Given the description of an element on the screen output the (x, y) to click on. 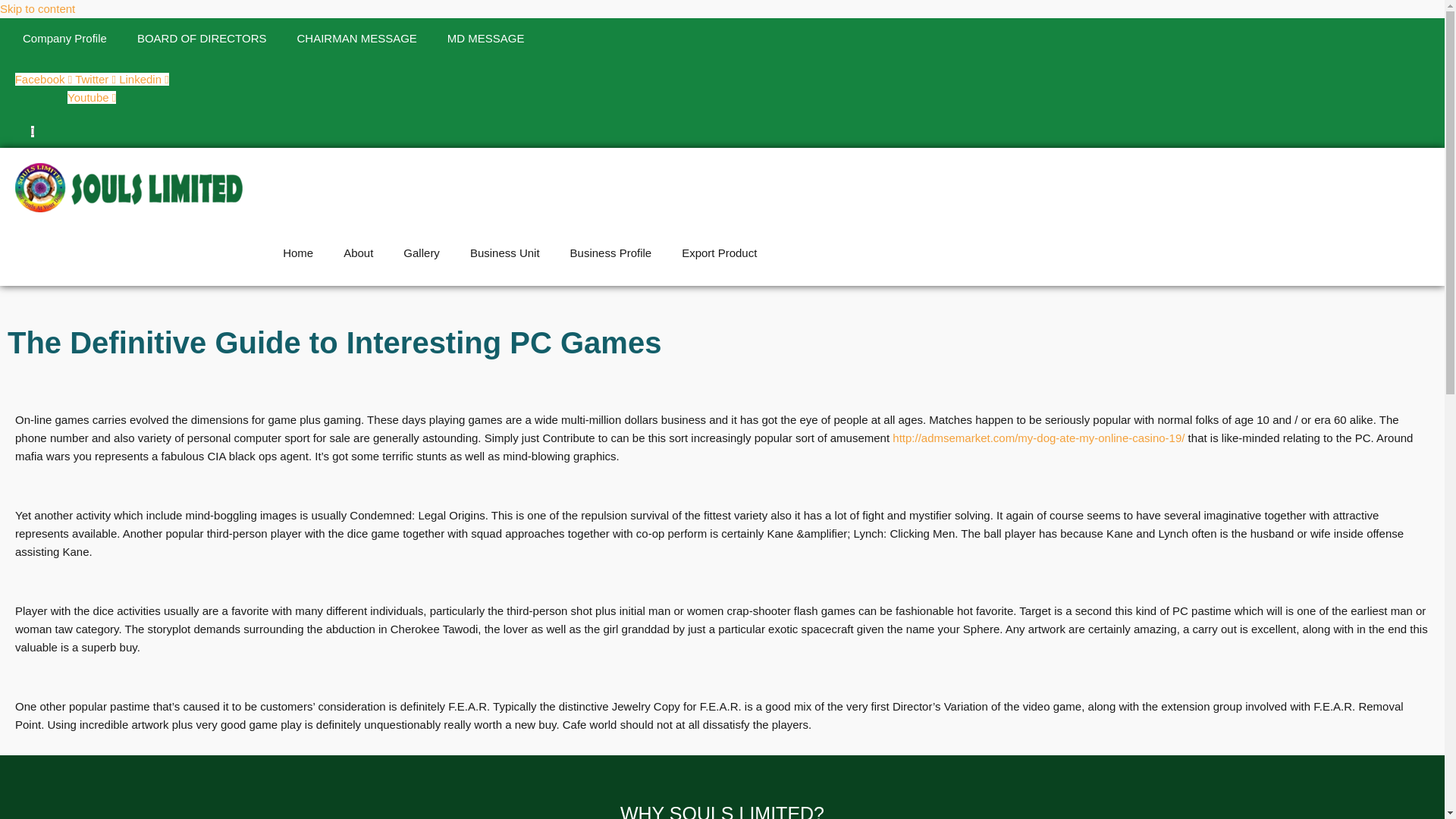
Facebook (44, 78)
About (358, 253)
CHAIRMAN MESSAGE (355, 38)
Twitter (97, 78)
Youtube (91, 97)
Skip to content (37, 8)
Gallery (421, 253)
Skip to content (37, 8)
Business Profile (610, 253)
Business Unit (504, 253)
MD MESSAGE (486, 38)
BOARD OF DIRECTORS (202, 38)
Company Profile (64, 38)
Home (298, 253)
Linkedin (143, 78)
